Given the description of an element on the screen output the (x, y) to click on. 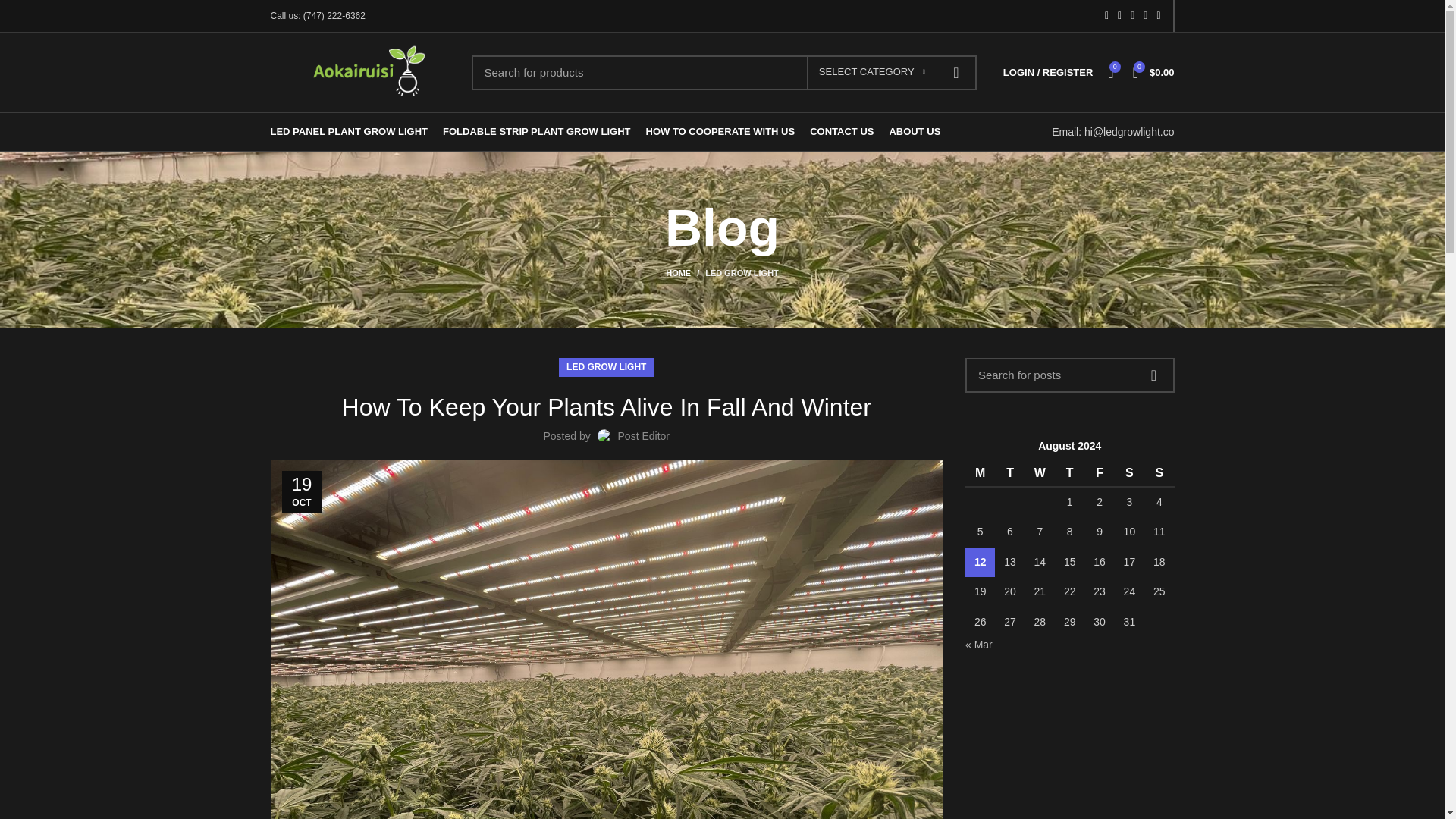
HOME (684, 272)
Friday (1098, 473)
LED PANEL PLANT GROW LIGHT (348, 132)
LED GROW LIGHT (741, 272)
HOW TO COOPERATE WITH US (721, 132)
Post Editor (643, 435)
Tuesday (1009, 473)
Search for products (723, 71)
SEARCH (956, 71)
My account (1047, 72)
